Given the description of an element on the screen output the (x, y) to click on. 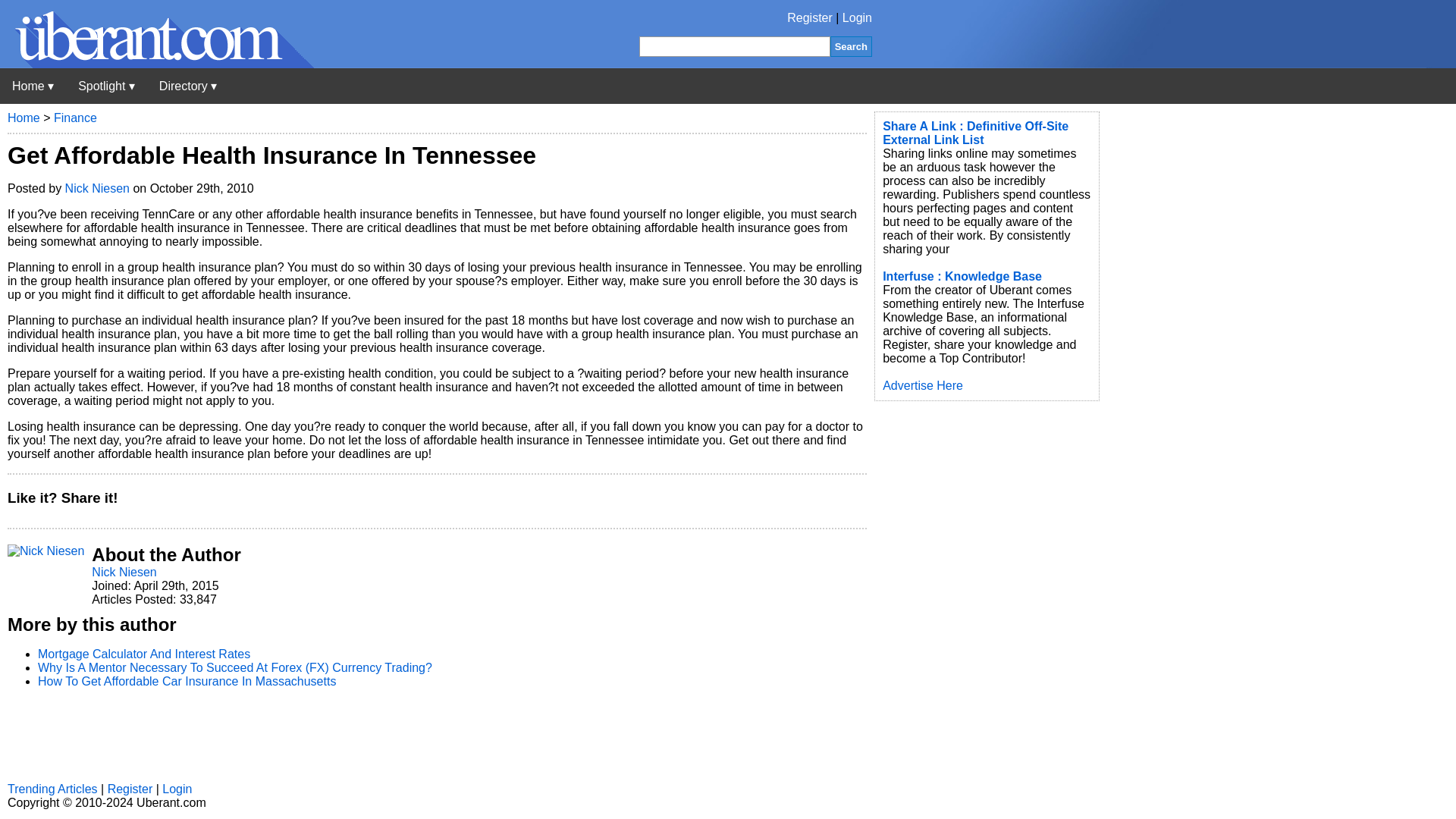
Uberant (32, 85)
Search (850, 46)
Register (809, 17)
Search (850, 46)
Login (857, 17)
Uberant (157, 63)
